Given the description of an element on the screen output the (x, y) to click on. 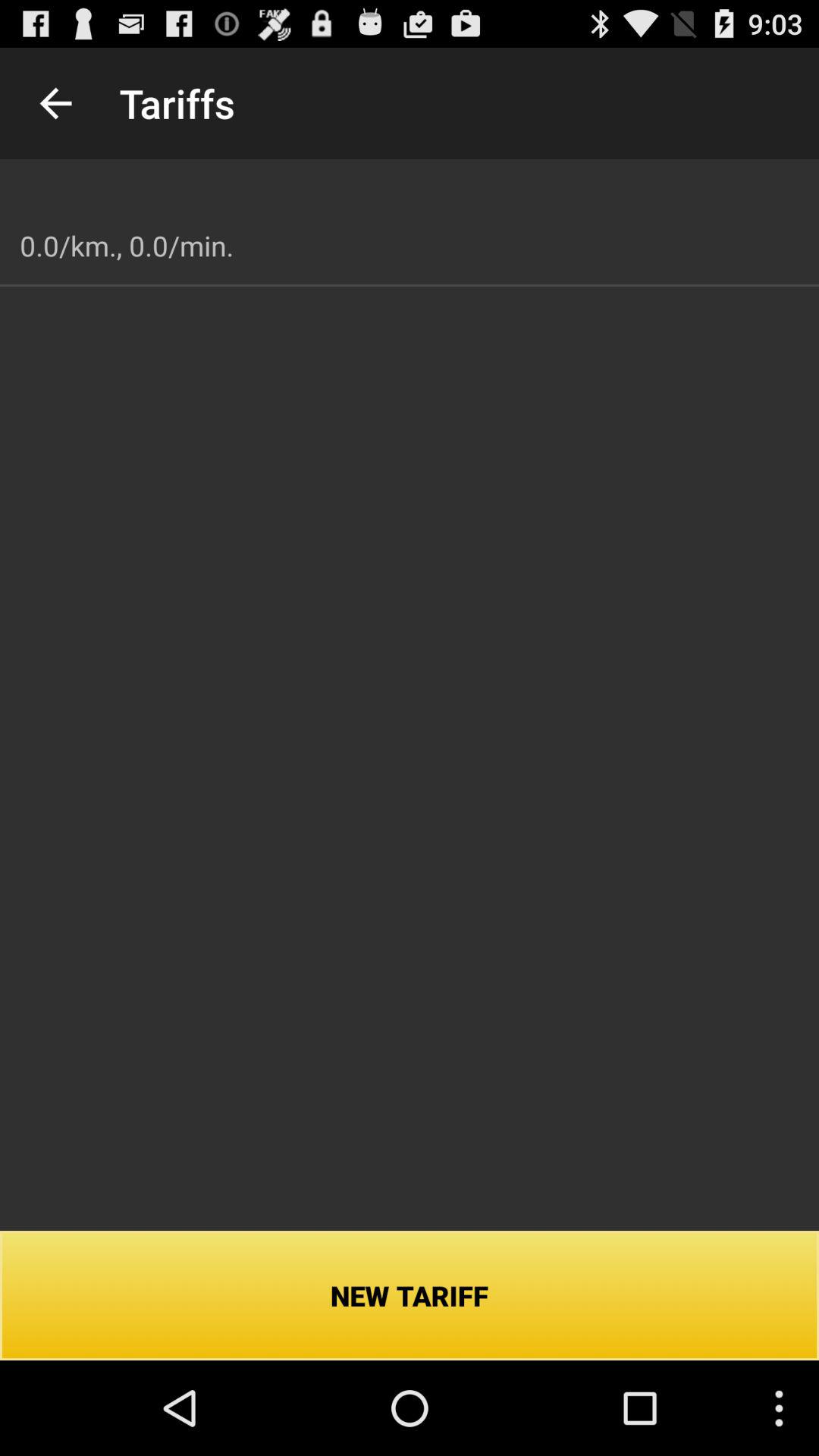
launch icon below 0 0 km (409, 1295)
